Given the description of an element on the screen output the (x, y) to click on. 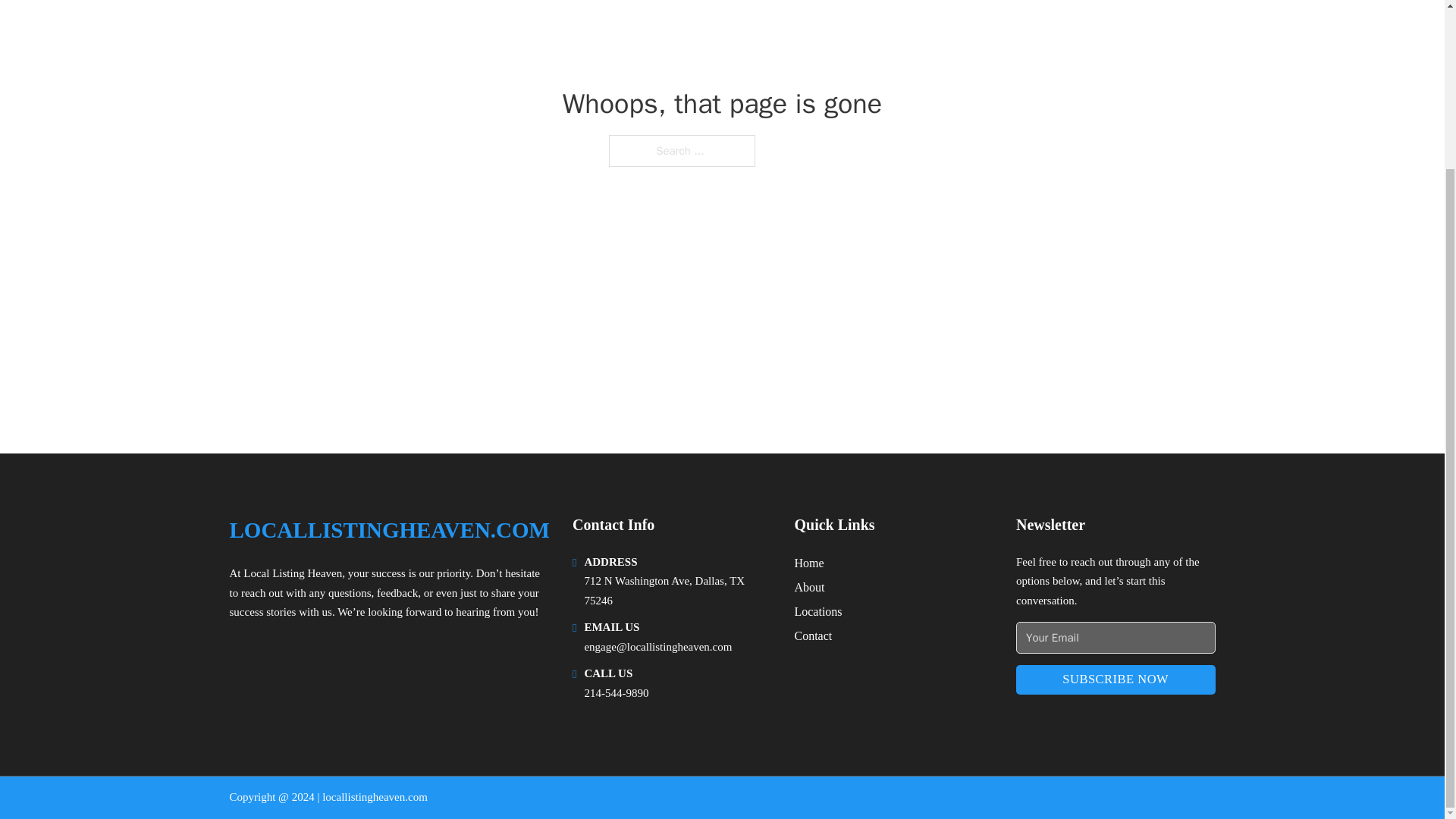
About (808, 587)
Locations (817, 611)
SUBSCRIBE NOW (1115, 679)
Contact (812, 635)
LOCALLISTINGHEAVEN.COM (388, 529)
214-544-9890 (615, 693)
Home (808, 562)
